Given the description of an element on the screen output the (x, y) to click on. 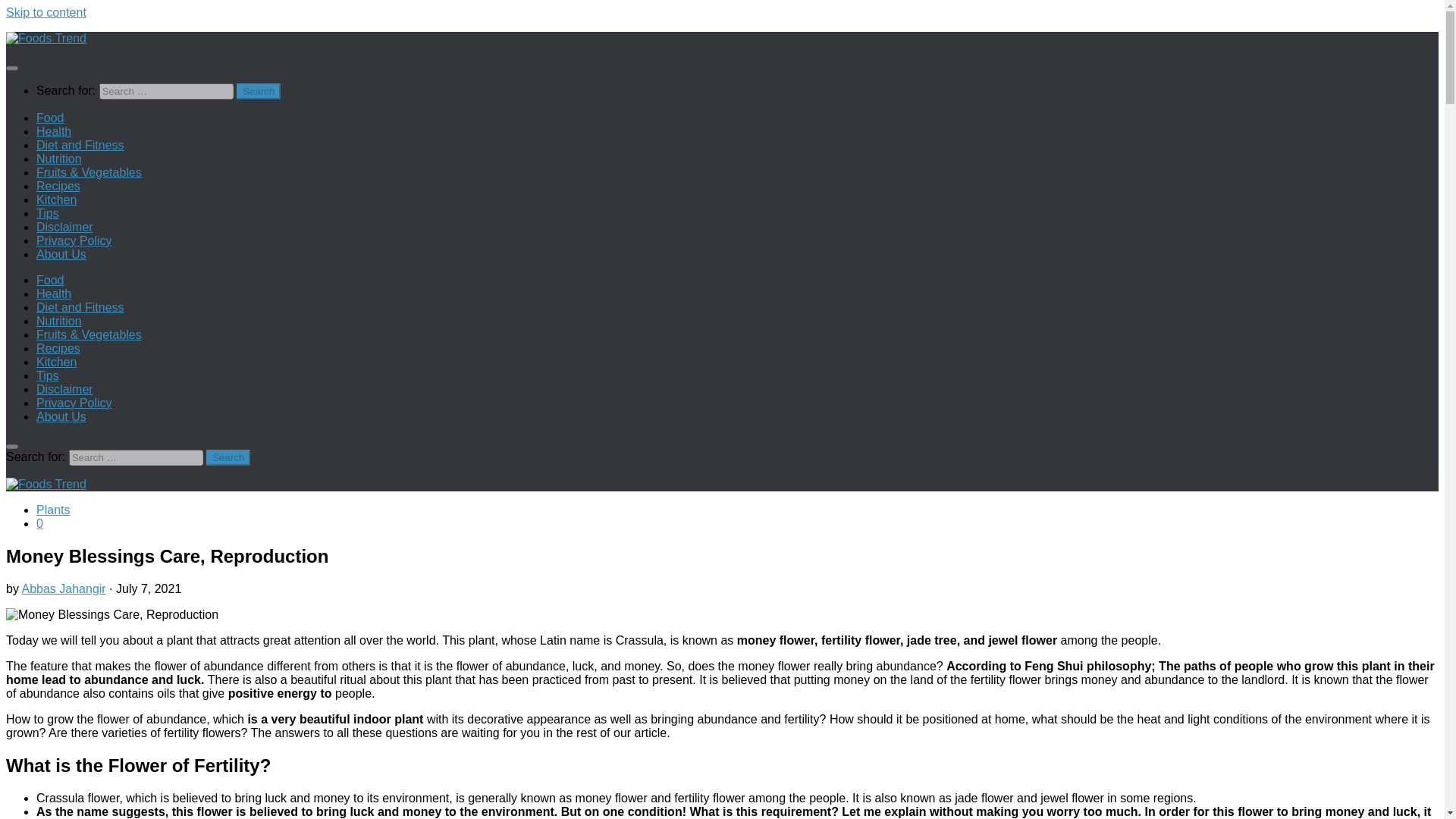
Health (53, 131)
Privacy Policy (74, 402)
Diet and Fitness (79, 144)
Disclaimer (64, 389)
Health (53, 293)
Recipes (58, 185)
Recipes (58, 348)
Search (258, 91)
Search (228, 457)
Tips (47, 375)
Search (228, 457)
Skip to content (45, 11)
Plants (52, 509)
Food (50, 279)
About Us (60, 254)
